Given the description of an element on the screen output the (x, y) to click on. 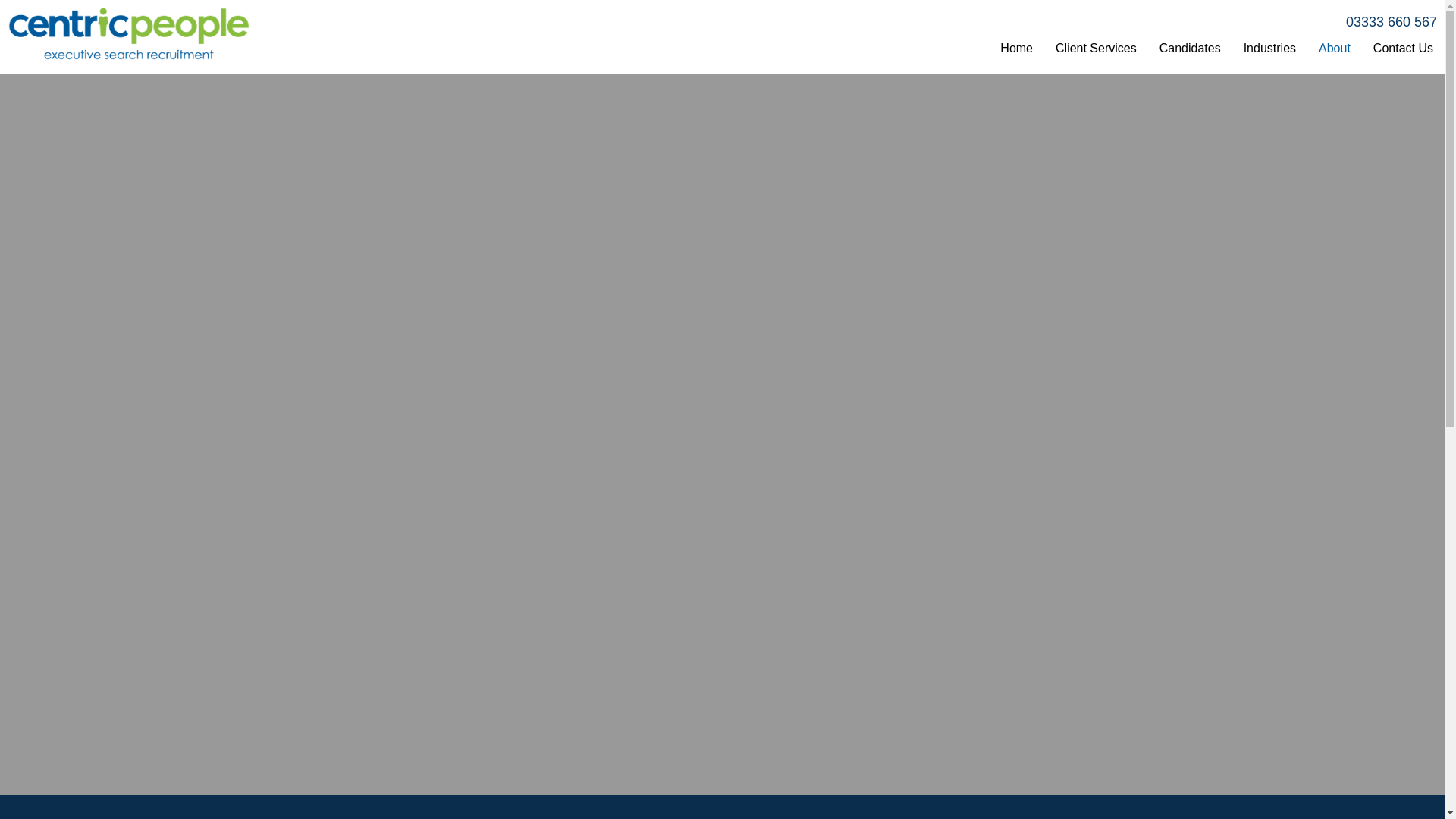
About (1334, 48)
03333 660 567 (1391, 21)
Client Services (1095, 48)
Home (1015, 48)
Candidates (1189, 48)
Industries (1269, 48)
